Given the description of an element on the screen output the (x, y) to click on. 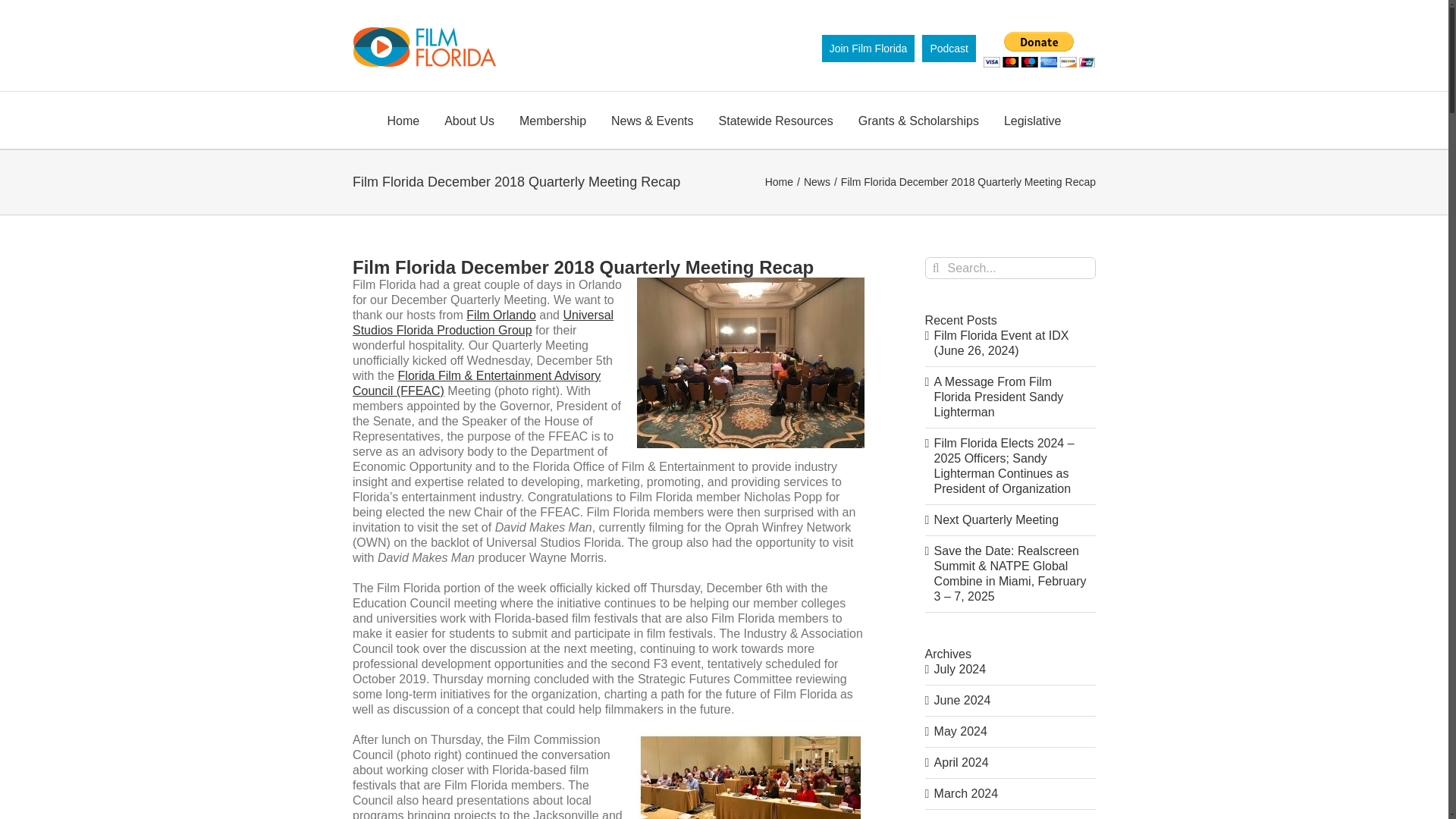
Podcast (948, 48)
Membership (552, 119)
Legislative (1032, 119)
PayPal - The safer, easier way to pay online! (1039, 49)
Join Film Florida (868, 48)
Statewide Resources (775, 119)
